Given the description of an element on the screen output the (x, y) to click on. 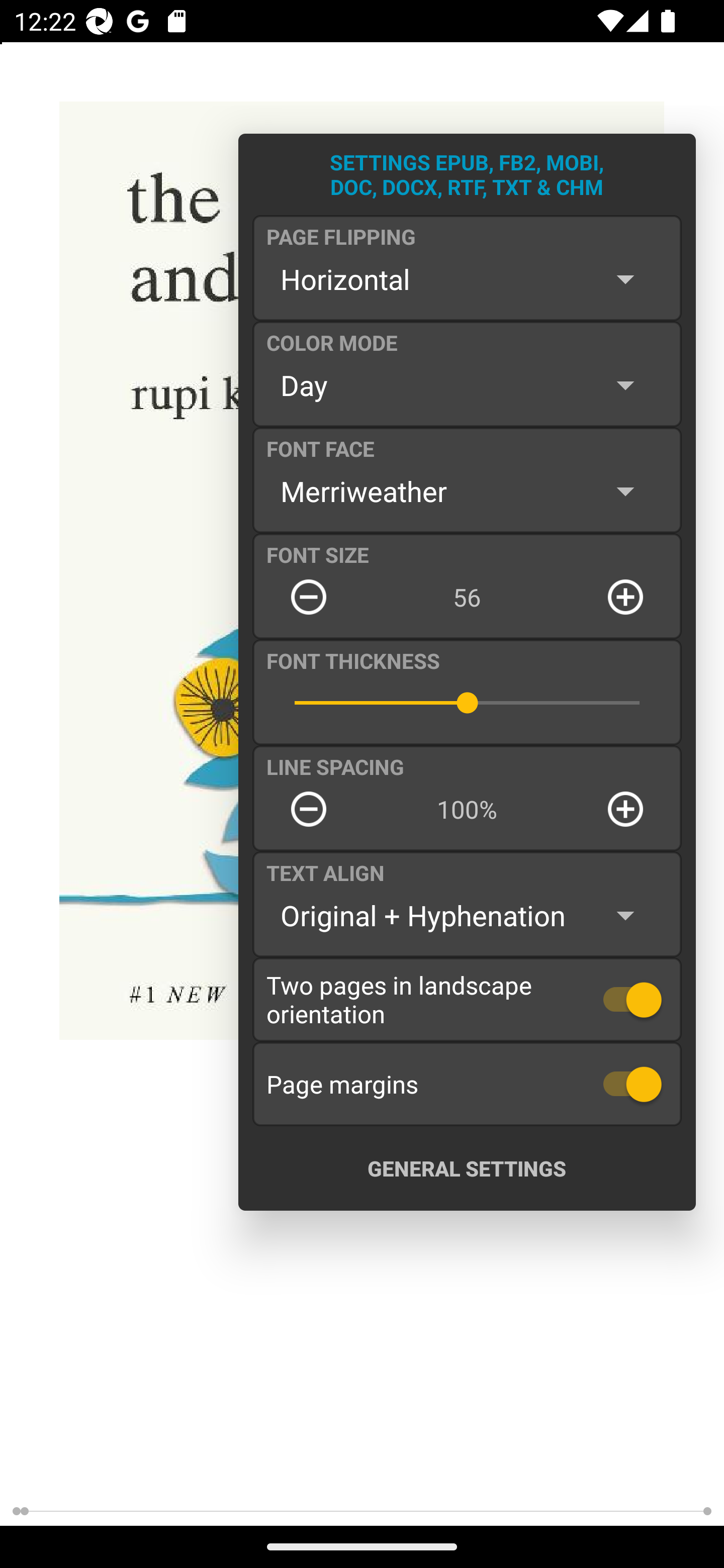
Horizontal (466, 278)
Day (466, 384)
Merriweather (466, 490)
Original + Hyphenation (466, 915)
Two pages in landscape orientation (467, 999)
Page margins (467, 1083)
GENERAL SETTINGS (466, 1167)
